Given the description of an element on the screen output the (x, y) to click on. 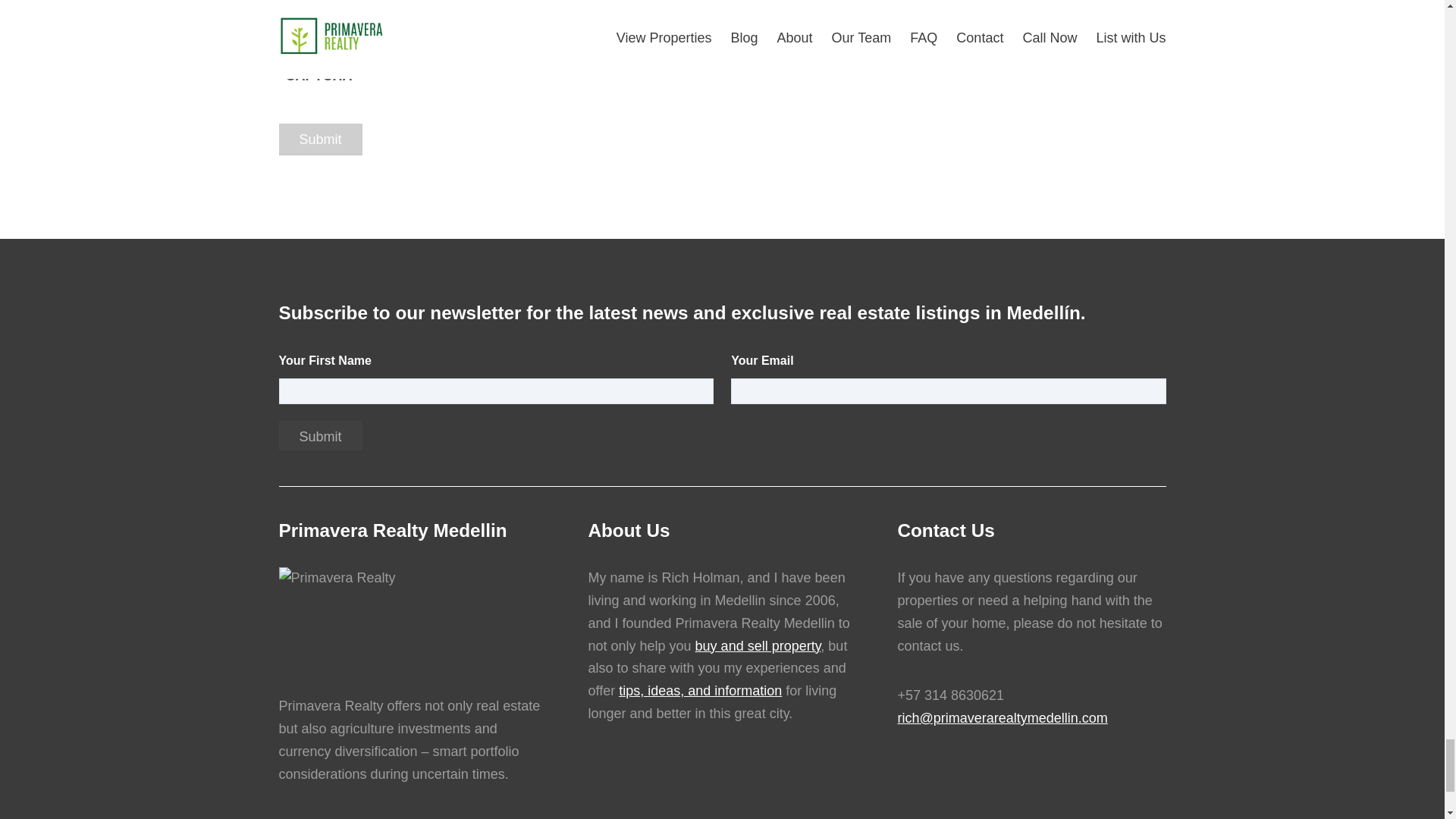
Submit (320, 139)
Submit (320, 436)
